Given the description of an element on the screen output the (x, y) to click on. 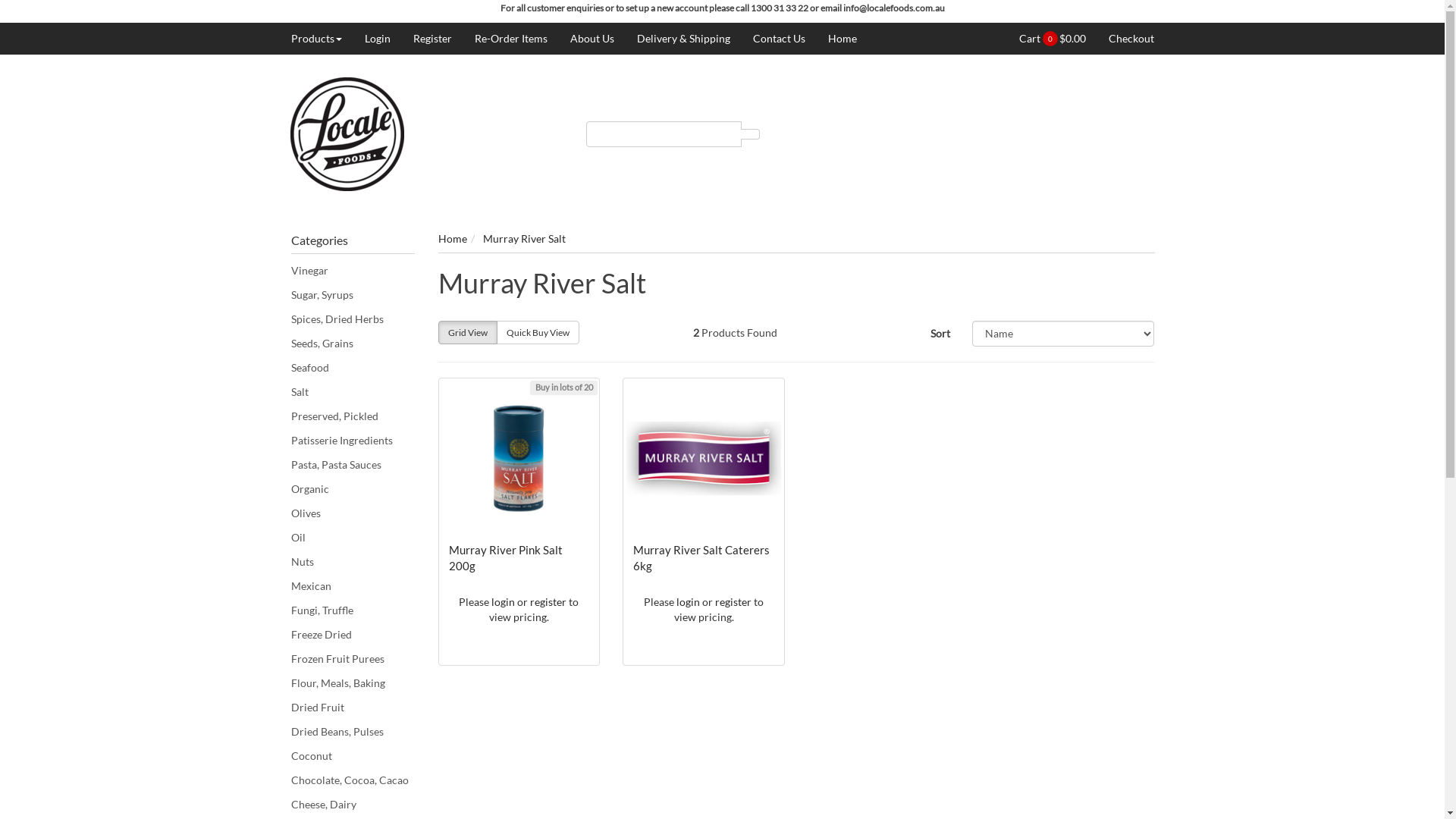
Delivery & Shipping Element type: text (682, 38)
Search Element type: text (749, 133)
Coconut Element type: text (352, 755)
Frozen Fruit Purees Element type: text (352, 658)
Locale Foods Pty Ltd Element type: hover (346, 132)
Checkout Element type: text (1124, 38)
Register Element type: text (432, 38)
Patisserie Ingredients Element type: text (352, 440)
Cheese, Dairy Element type: text (352, 804)
Pasta, Pasta Sauces Element type: text (352, 464)
login Element type: text (687, 601)
Chocolate, Cocoa, Cacao Element type: text (352, 780)
Freeze Dried Element type: text (352, 634)
Products Element type: text (322, 38)
Dried Fruit Element type: text (352, 707)
Oil Element type: text (352, 537)
Vinegar Element type: text (352, 270)
Olives Element type: text (352, 513)
Flour, Meals, Baking Element type: text (352, 683)
Salt Element type: text (352, 391)
Seeds, Grains Element type: text (352, 343)
Home Element type: text (835, 38)
Mexican Element type: text (352, 586)
register Element type: text (548, 601)
About Us Element type: text (591, 38)
Login Element type: text (377, 38)
Home Element type: text (452, 238)
Nuts Element type: text (352, 561)
Spices, Dried Herbs Element type: text (352, 319)
Fungi, Truffle Element type: text (352, 610)
Sugar, Syrups Element type: text (352, 294)
register Element type: text (733, 601)
Contact Us Element type: text (778, 38)
Grid View Element type: text (467, 332)
Seafood Element type: text (352, 367)
login Element type: text (502, 601)
Murray River Salt Caterers 6kg Element type: text (701, 557)
Quick Buy View Element type: text (536, 332)
Re-Order Items Element type: text (510, 38)
Murray River Salt Element type: text (523, 238)
Murray River Pink Salt 200g Element type: text (505, 557)
Preserved, Pickled Element type: text (352, 416)
Dried Beans, Pulses Element type: text (352, 731)
Cart 0 $0.00 Element type: text (1058, 38)
Organic Element type: text (352, 488)
